Given the description of an element on the screen output the (x, y) to click on. 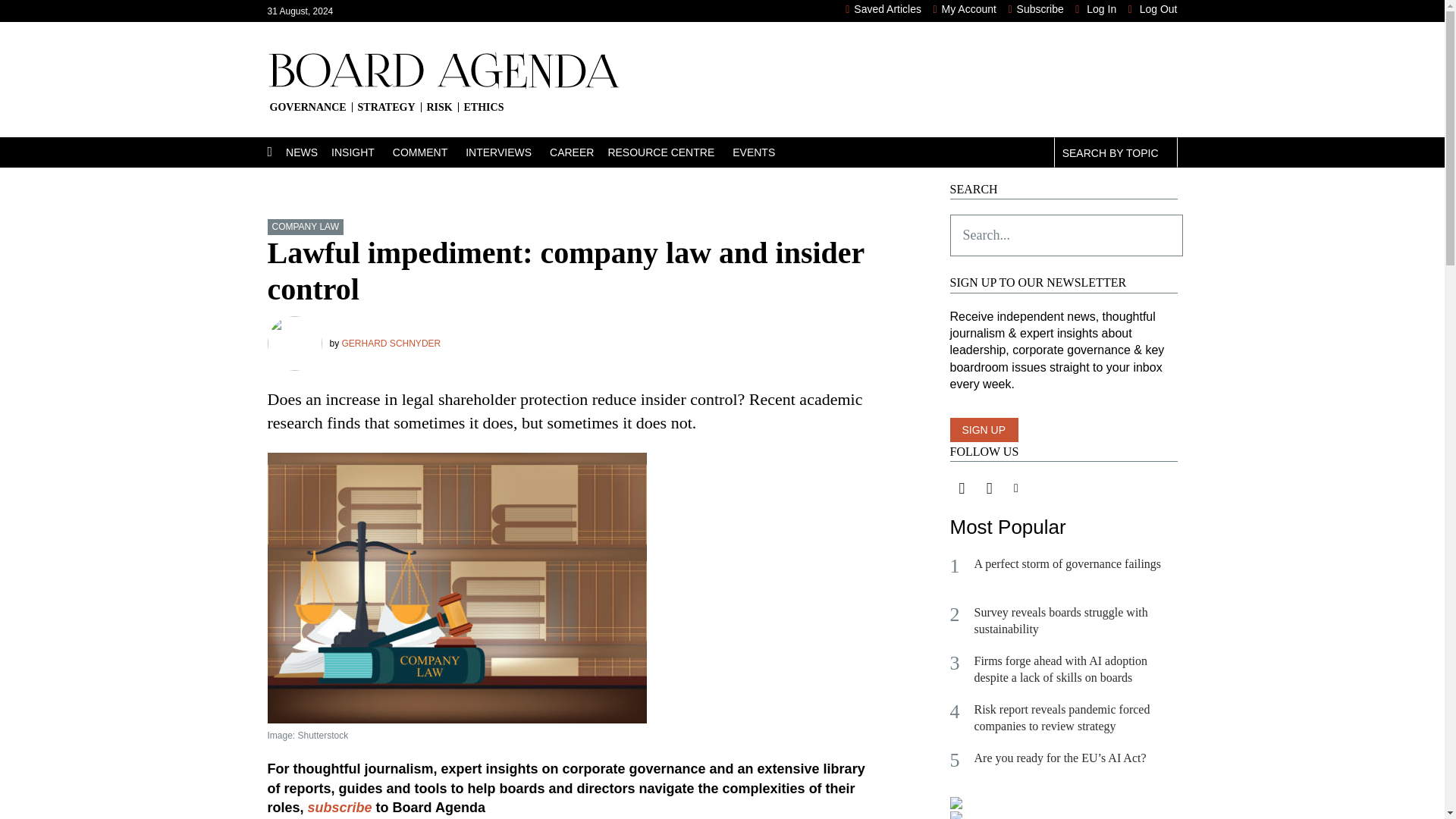
INTERVIEWS (507, 152)
Log Out (1152, 9)
COMMENT (429, 152)
My Account (964, 9)
INSIGHT (362, 152)
NEWS (308, 152)
Subscribe (1034, 9)
Log In (1095, 9)
Lawful impediment: company law and insider control (569, 726)
Saved Articles (883, 9)
